Given the description of an element on the screen output the (x, y) to click on. 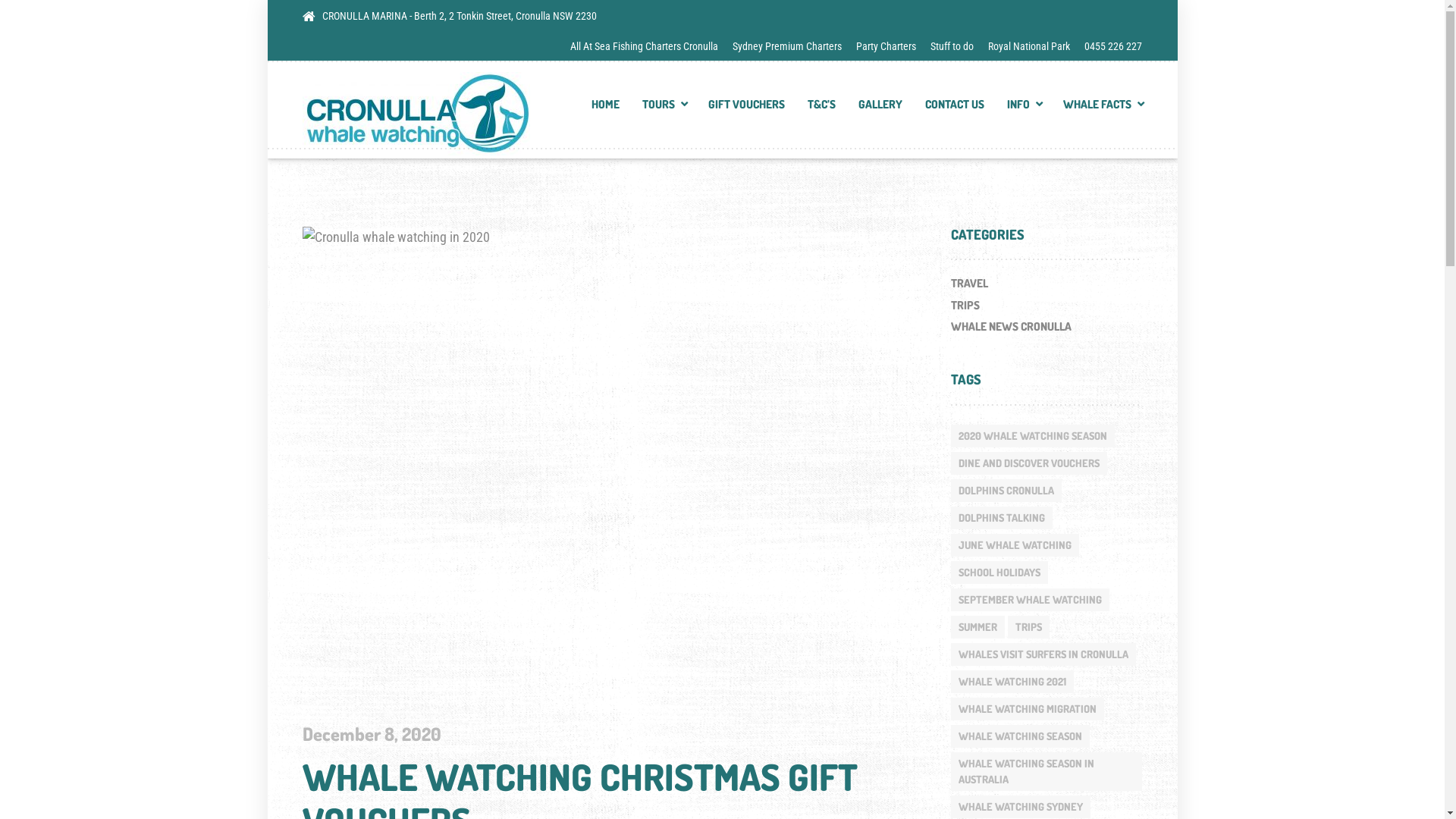
TOURS Element type: text (663, 109)
December 8, 2020 Element type: text (371, 735)
TRIPS Element type: text (964, 305)
SEPTEMBER WHALE WATCHING Element type: text (1029, 599)
CONTACT US Element type: text (954, 109)
2020 WHALE WATCHING SEASON Element type: text (1032, 435)
SCHOOL HOLIDAYS Element type: text (999, 572)
0455 226 227 Element type: text (1110, 45)
SUMMER Element type: text (977, 626)
INFO Element type: text (1023, 109)
TRAVEL Element type: text (969, 284)
WHALE WATCHING SYDNEY Element type: text (1020, 806)
DOLPHINS TALKING Element type: text (1001, 517)
TRIPS Element type: text (1028, 626)
WHALE WATCHING SEASON Element type: text (1019, 735)
JUNE WHALE WATCHING Element type: text (1014, 544)
Party Charters Element type: text (886, 45)
DINE AND DISCOVER VOUCHERS Element type: text (1028, 462)
GIFT VOUCHERS Element type: text (746, 109)
WHALE WATCHING MIGRATION Element type: text (1027, 708)
Stuff to do Element type: text (951, 45)
WHALE NEWS CRONULLA Element type: text (1010, 325)
DOLPHINS CRONULLA Element type: text (1005, 490)
All At Sea Fishing Charters Cronulla Element type: text (647, 45)
HOME Element type: text (605, 109)
Sydney Premium Charters Element type: text (786, 45)
WHALES VISIT SURFERS IN CRONULLA Element type: text (1042, 654)
WHALE WATCHING 2021 Element type: text (1011, 681)
GALLERY Element type: text (880, 109)
Royal National Park Element type: text (1029, 45)
WHALE FACTS Element type: text (1096, 109)
WHALE WATCHING SEASON IN AUSTRALIA Element type: text (1045, 771)
